Given the description of an element on the screen output the (x, y) to click on. 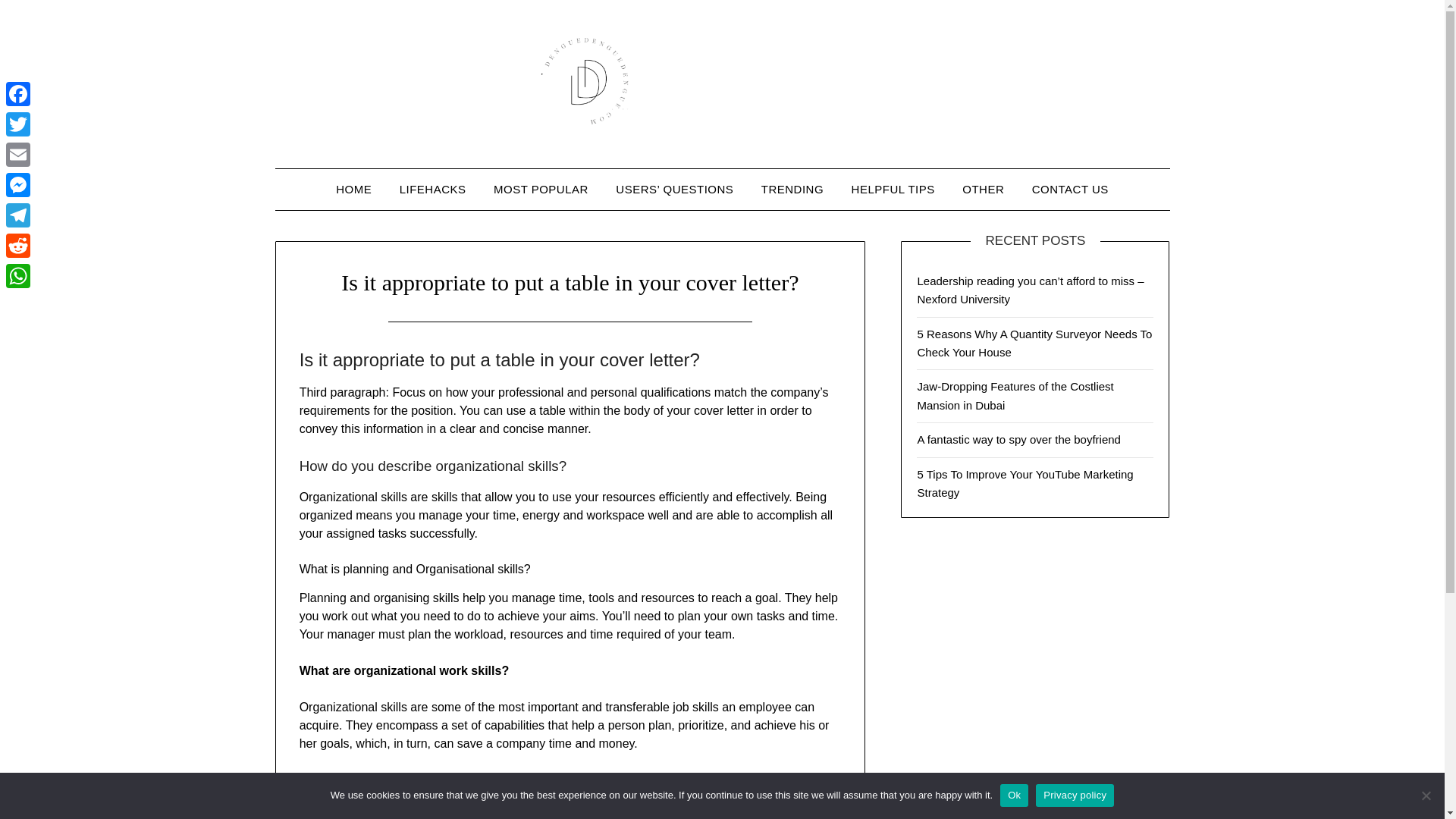
MOST POPULAR (540, 188)
Facebook (17, 93)
A fantastic way to spy over the boyfriend (1018, 439)
CONTACT US (1070, 188)
Jaw-Dropping Features of the Costliest Mansion in Dubai (1015, 395)
Email (17, 154)
HOME (353, 188)
WhatsApp (17, 276)
LIFEHACKS (433, 188)
No (1425, 795)
Reddit (17, 245)
5 Reasons Why A Quantity Surveyor Needs To Check Your House (1034, 342)
OTHER (983, 188)
5 Tips To Improve Your YouTube Marketing Strategy (1024, 482)
Email (17, 154)
